Given the description of an element on the screen output the (x, y) to click on. 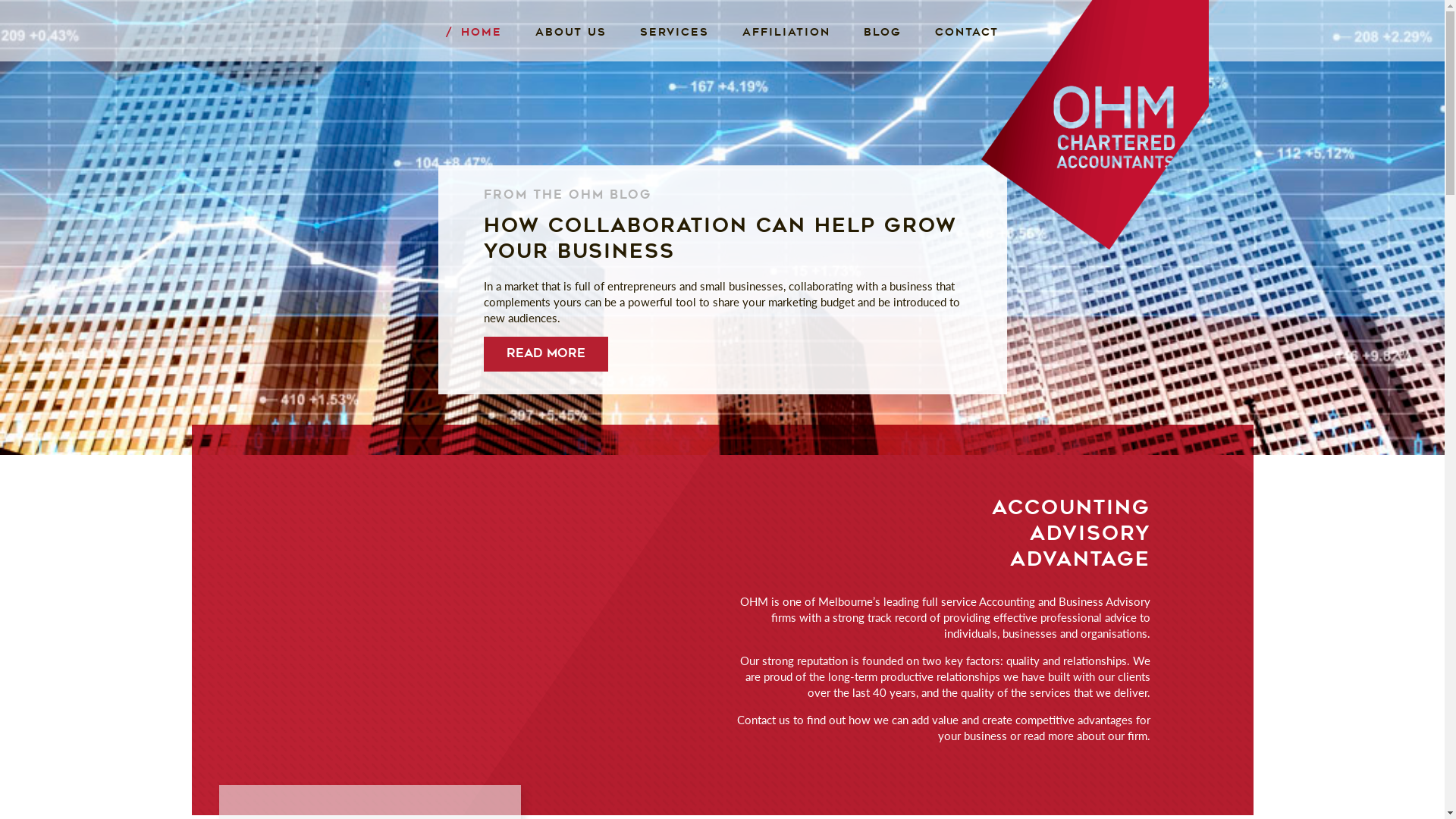
Tax Advisory Element type: text (686, 58)
Corporate Advisory Element type: text (705, 58)
BLOG Element type: text (882, 32)
Financial Planning Element type: text (701, 58)
Business Advisory Element type: text (702, 58)
Change Success Diagnostic Element type: text (699, 65)
Superannuation & Retirement Element type: text (700, 66)
ABOUT US Element type: text (570, 32)
GPS Business Diagnostic Element type: text (723, 57)
SERVICES Element type: text (674, 32)
Business Health Check Diagnostic Element type: text (717, 65)
AFFILIATION Element type: text (786, 32)
Read More Element type: text (545, 353)
CONTACT Element type: text (966, 32)
read more Element type: text (1048, 735)
Bookkeeping Element type: text (686, 58)
HOME Element type: text (473, 32)
Accounting & Compliance Services Element type: text (708, 66)
